Given the description of an element on the screen output the (x, y) to click on. 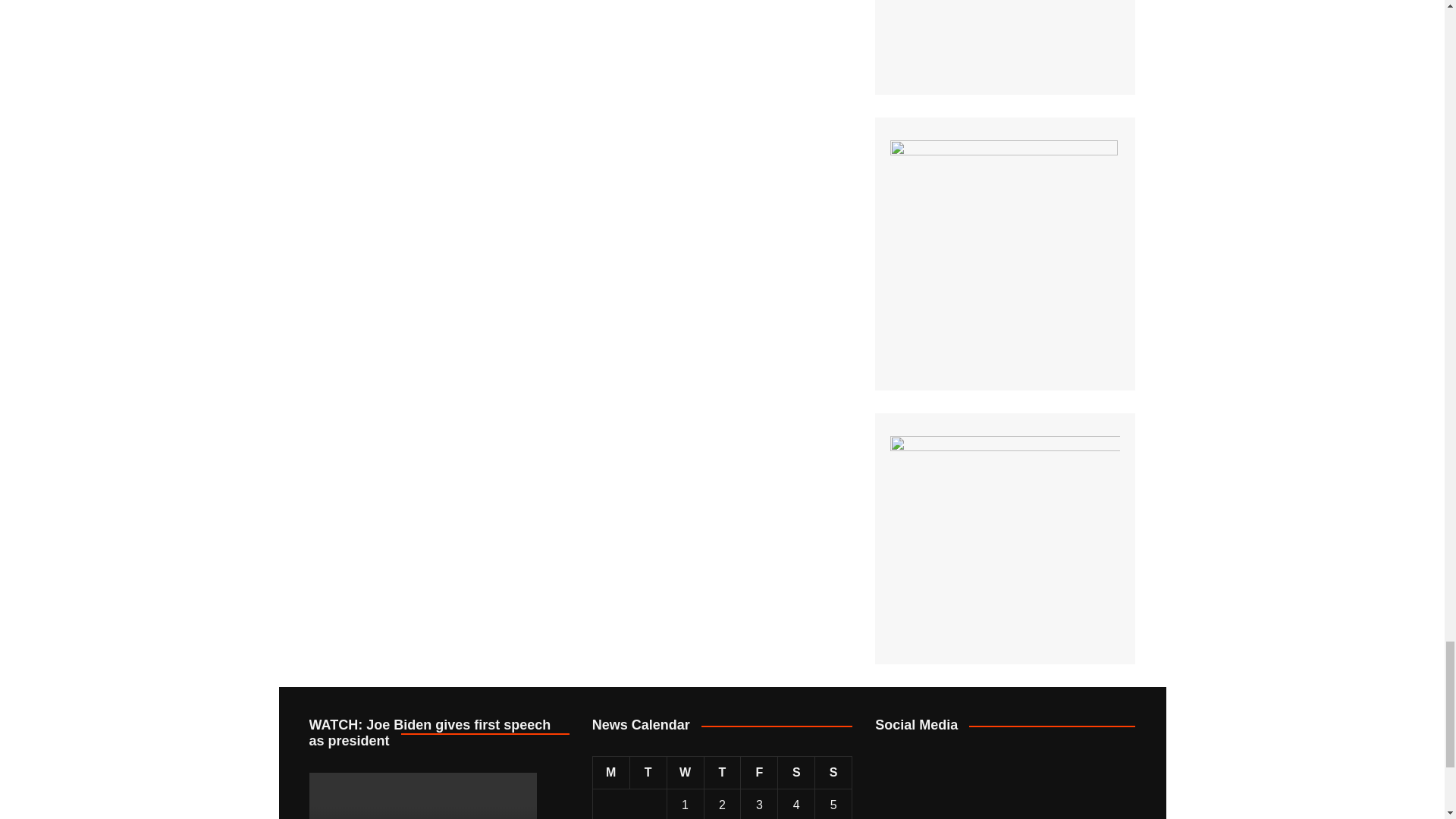
Monday (610, 772)
Wednesday (684, 772)
Tuesday (647, 772)
